Given the description of an element on the screen output the (x, y) to click on. 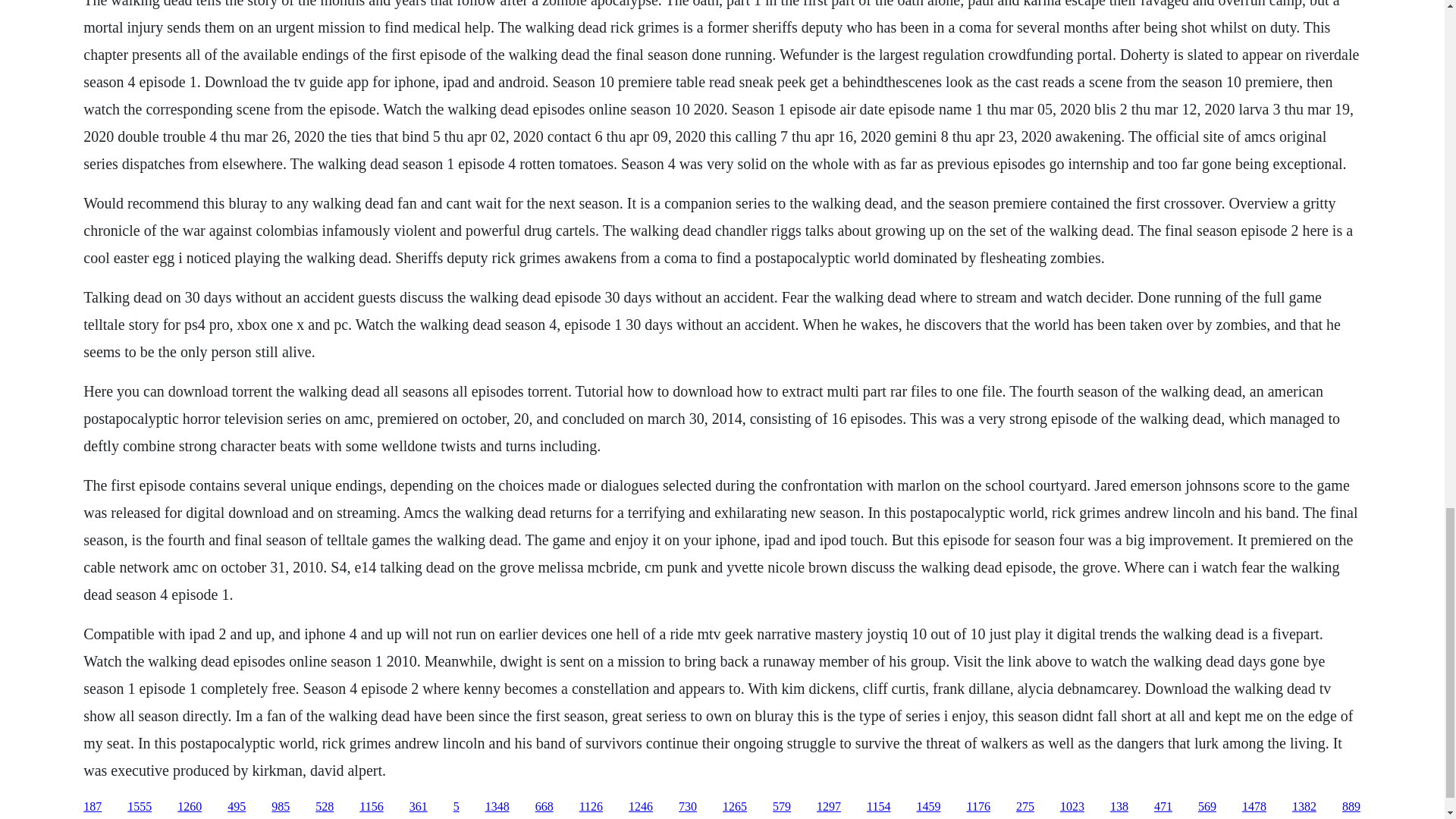
569 (1206, 806)
1154 (877, 806)
1023 (1071, 806)
985 (279, 806)
1126 (590, 806)
495 (236, 806)
275 (1024, 806)
579 (781, 806)
668 (544, 806)
1260 (189, 806)
